Given the description of an element on the screen output the (x, y) to click on. 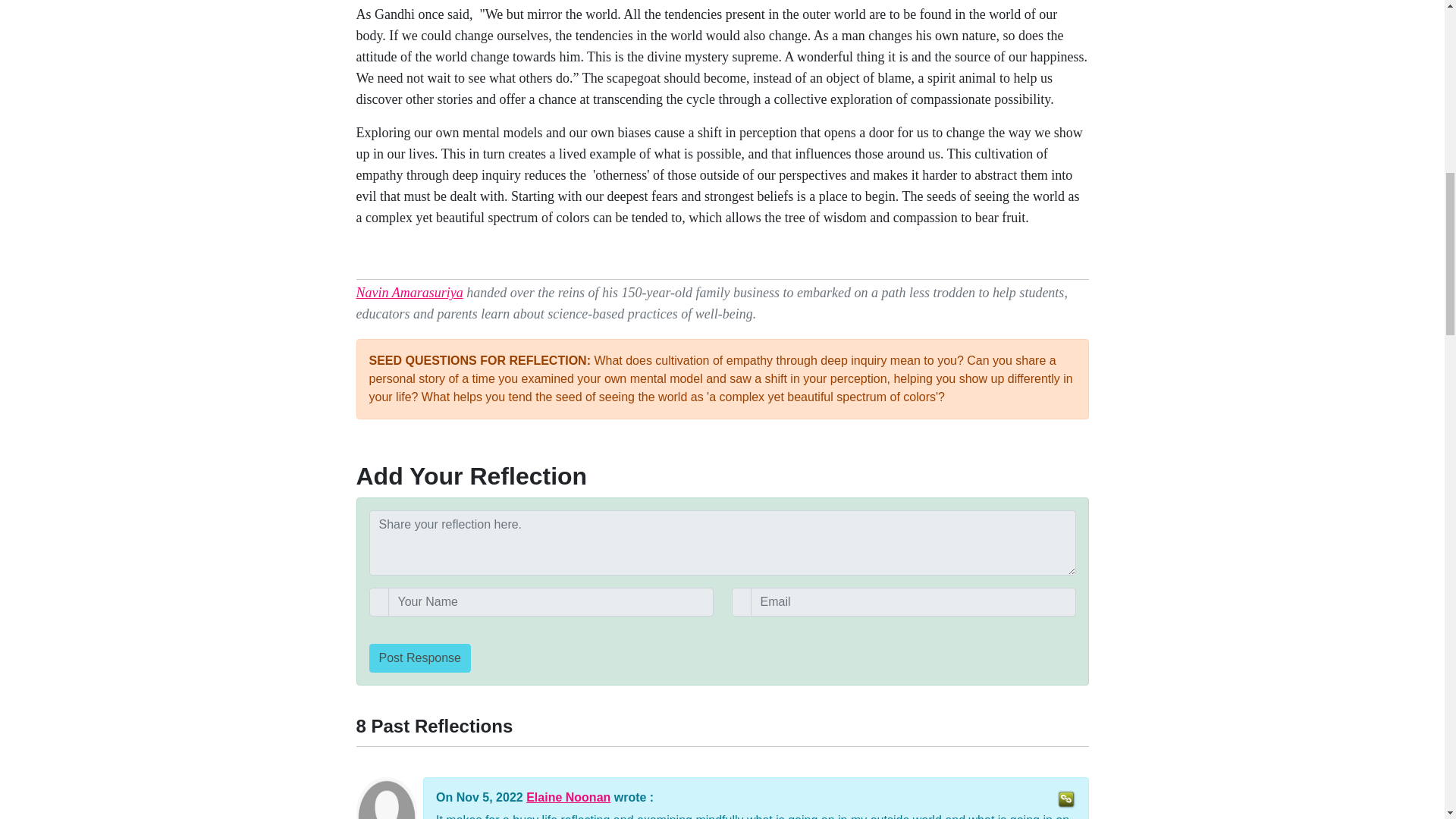
Post Response (419, 657)
Navin Amarasuriya (409, 292)
Elaine Noonan (567, 797)
